Given the description of an element on the screen output the (x, y) to click on. 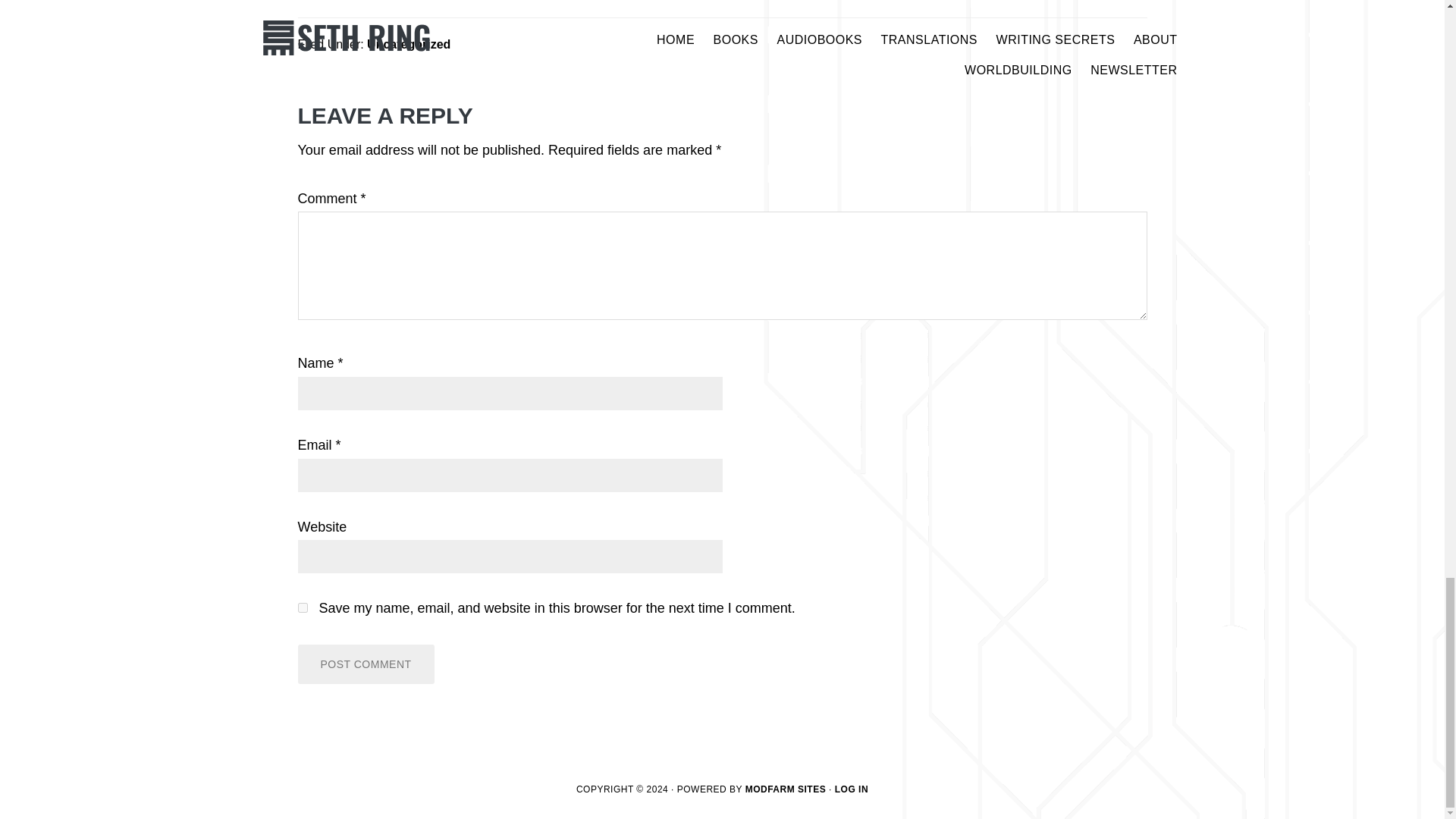
Post Comment (365, 663)
yes (302, 607)
Post Comment (365, 663)
LOG IN (850, 788)
MODFARM SITES (786, 788)
Uncategorized (407, 43)
